Given the description of an element on the screen output the (x, y) to click on. 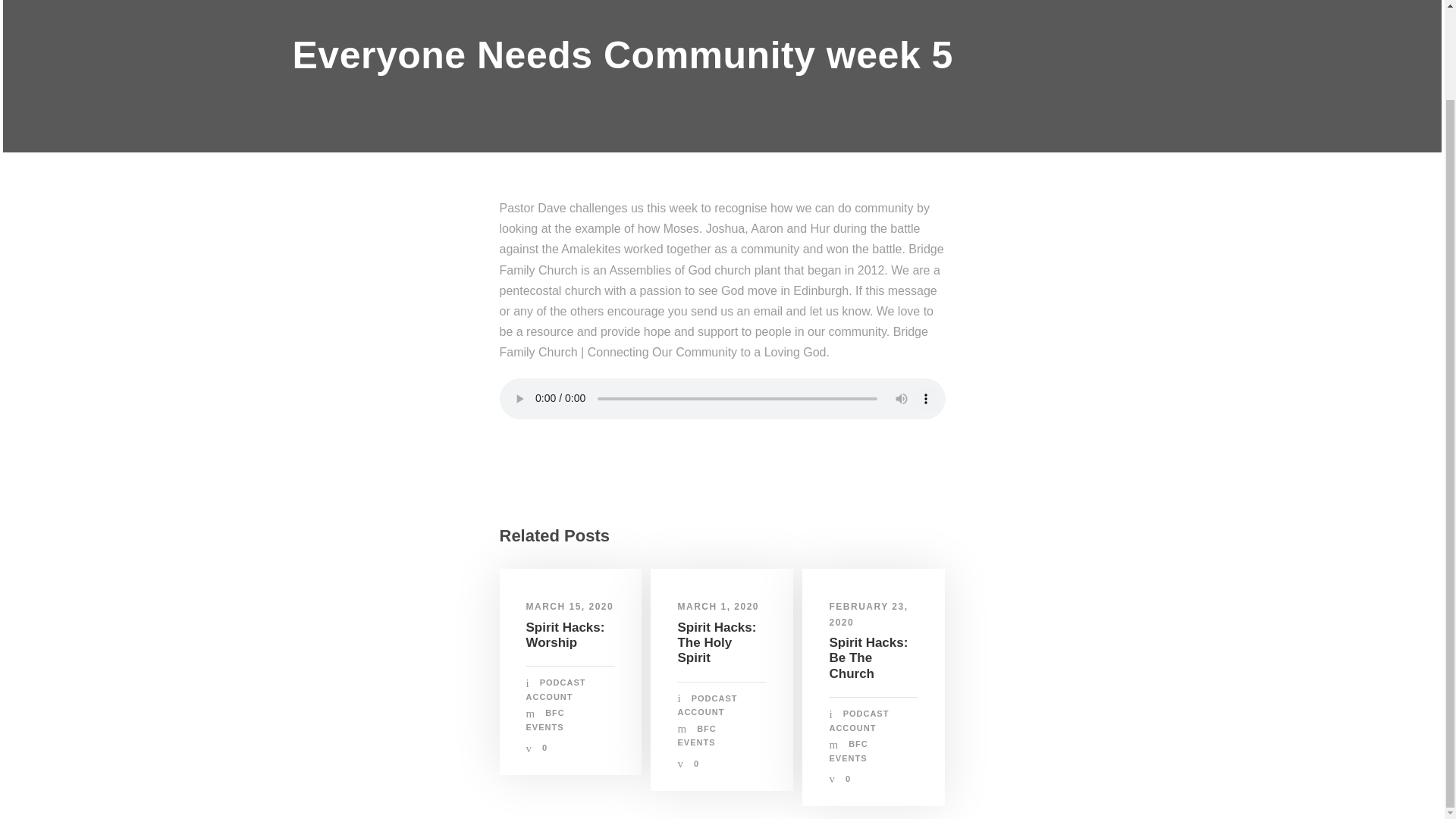
Spirit Hacks: The Holy Spirit (716, 642)
Posts by Podcast Account (706, 705)
MARCH 1, 2020 (717, 606)
PODCAST ACCOUNT (555, 689)
Spirit Hacks: Be The Church (867, 657)
PODCAST ACCOUNT (706, 705)
BFC EVENTS (847, 750)
FEBRUARY 23, 2020 (867, 614)
MARCH 15, 2020 (569, 606)
BFC EVENTS (544, 720)
